Given the description of an element on the screen output the (x, y) to click on. 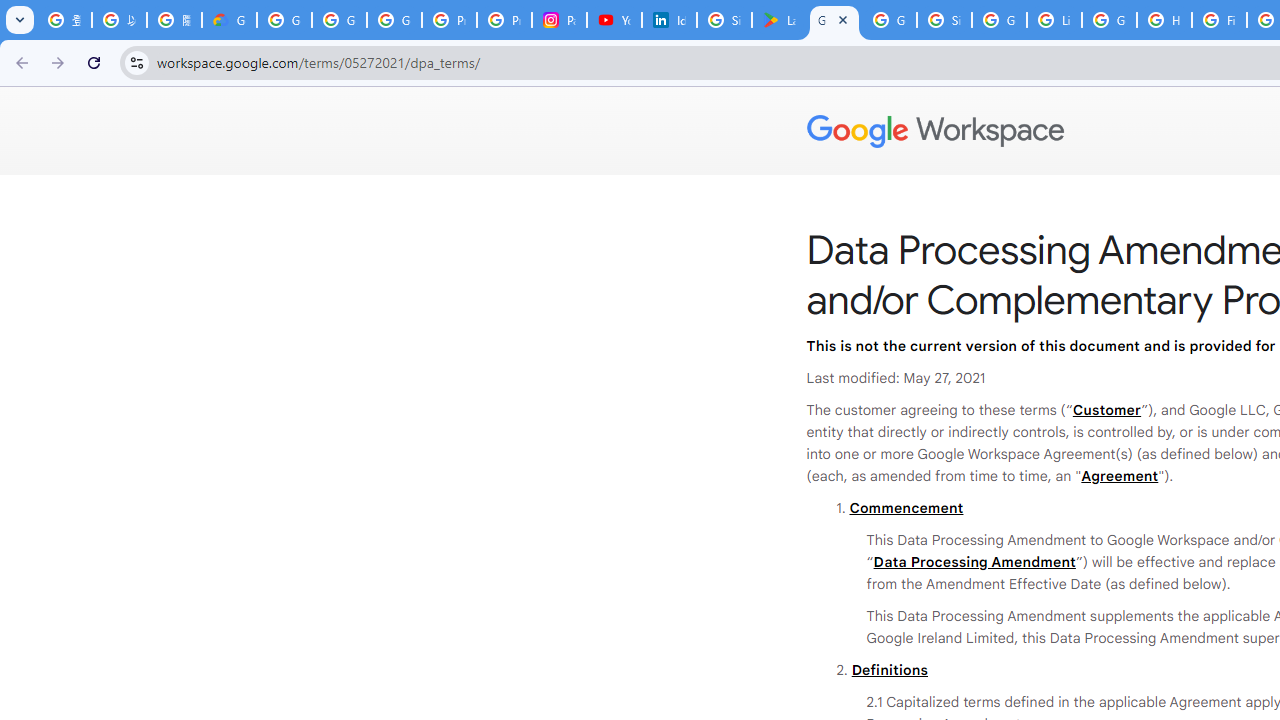
How do I create a new Google Account? - Google Account Help (1163, 20)
Last Shelter: Survival - Apps on Google Play (779, 20)
Privacy Help Center - Policies Help (504, 20)
YouTube Culture & Trends - On The Rise: Handcam Videos (614, 20)
